Given the description of an element on the screen output the (x, y) to click on. 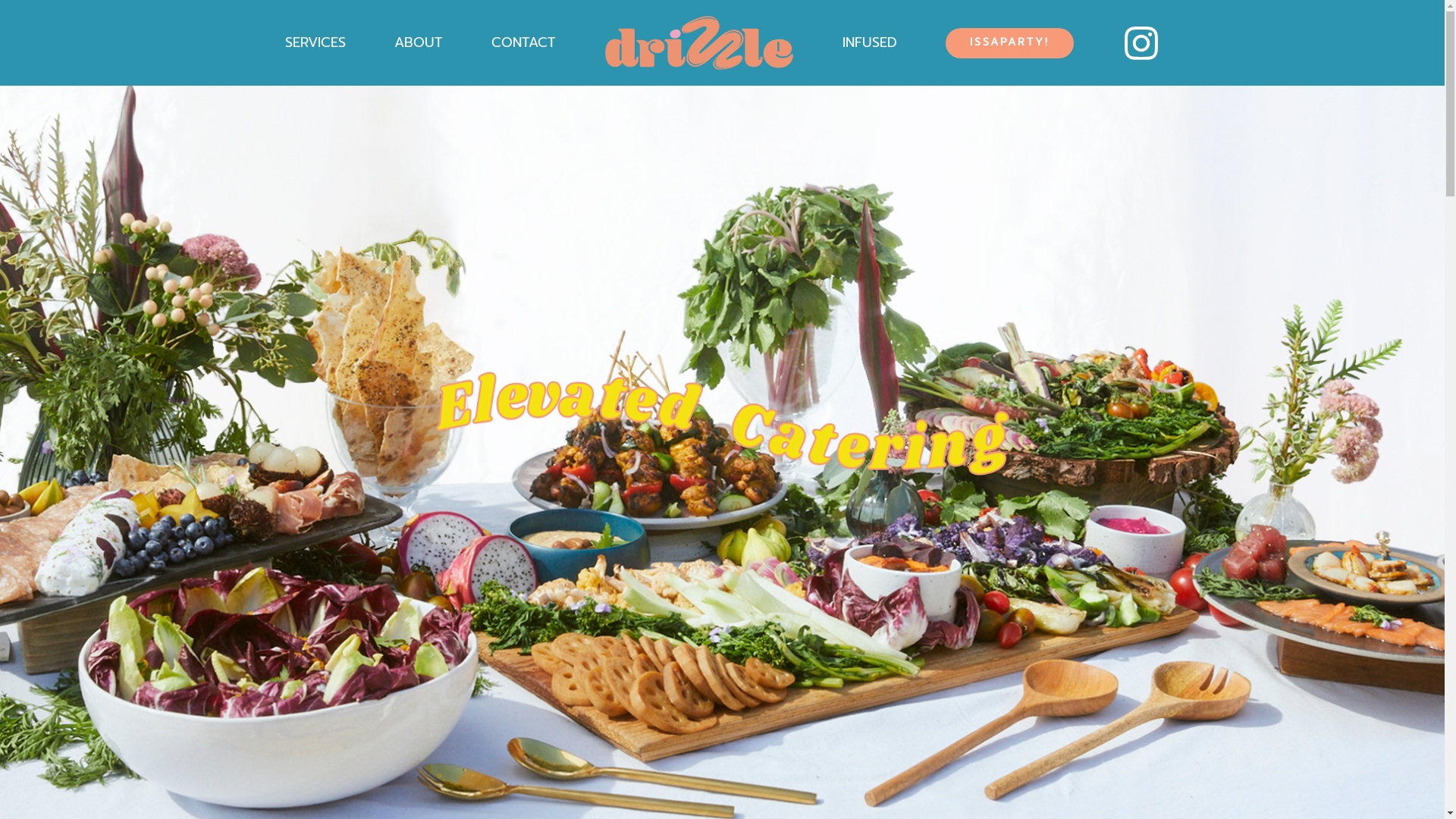
INFUSED Element type: text (868, 42)
ISSAPARTY! Element type: text (1008, 43)
CONTACT Element type: text (523, 42)
SERVICES Element type: text (315, 42)
ABOUT Element type: text (418, 42)
